Given the description of an element on the screen output the (x, y) to click on. 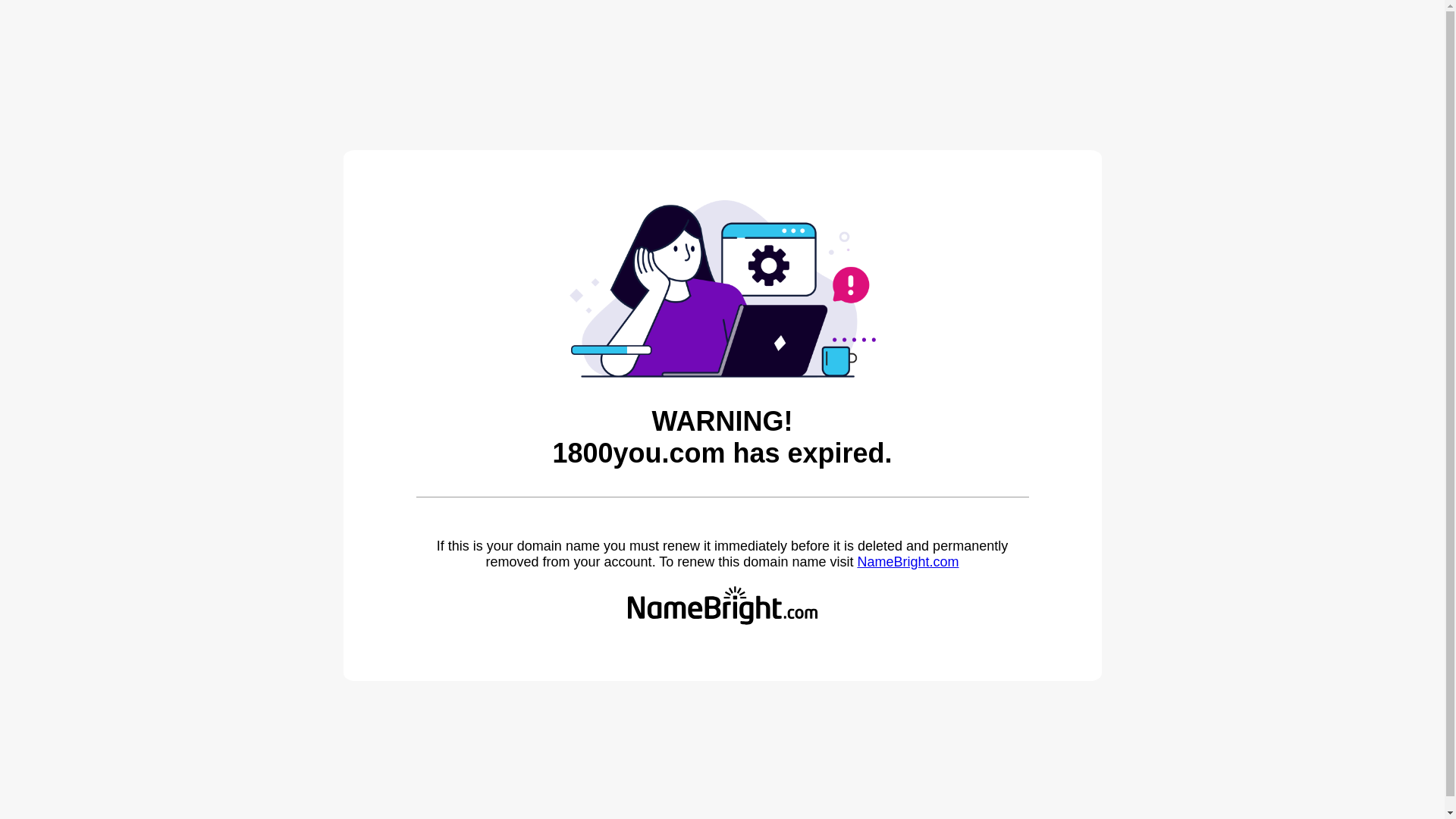
NameBright.com Element type: text (907, 561)
